Given the description of an element on the screen output the (x, y) to click on. 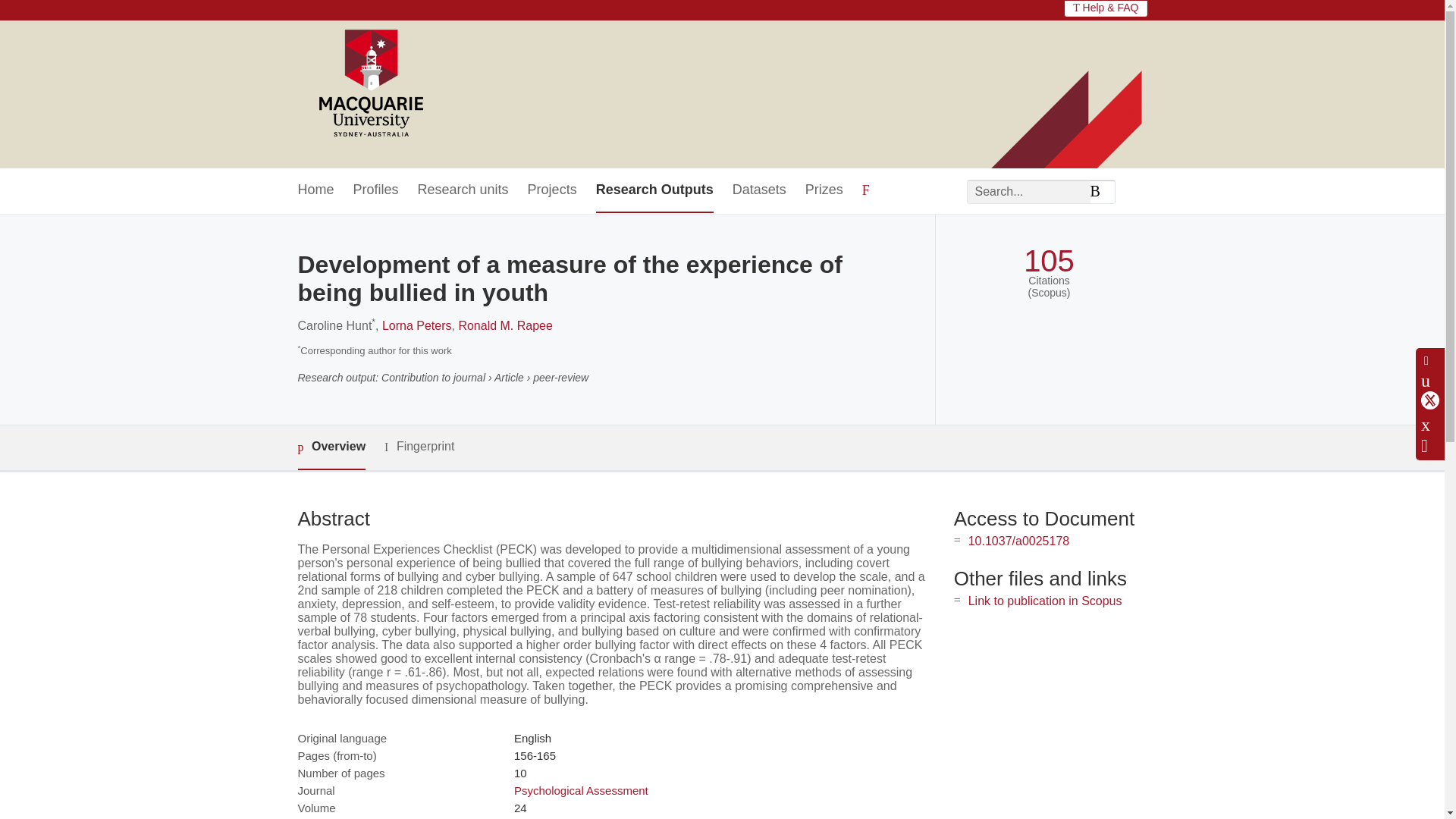
Datasets (759, 190)
Link to publication in Scopus (1045, 600)
Macquarie University Home (369, 84)
Psychological Assessment (580, 789)
Prizes (824, 190)
Home (315, 190)
105 (1048, 261)
Research units (462, 190)
Fingerprint (419, 446)
Projects (551, 190)
Lorna Peters (416, 325)
Ronald M. Rapee (505, 325)
Overview (331, 447)
Profiles (375, 190)
